Given the description of an element on the screen output the (x, y) to click on. 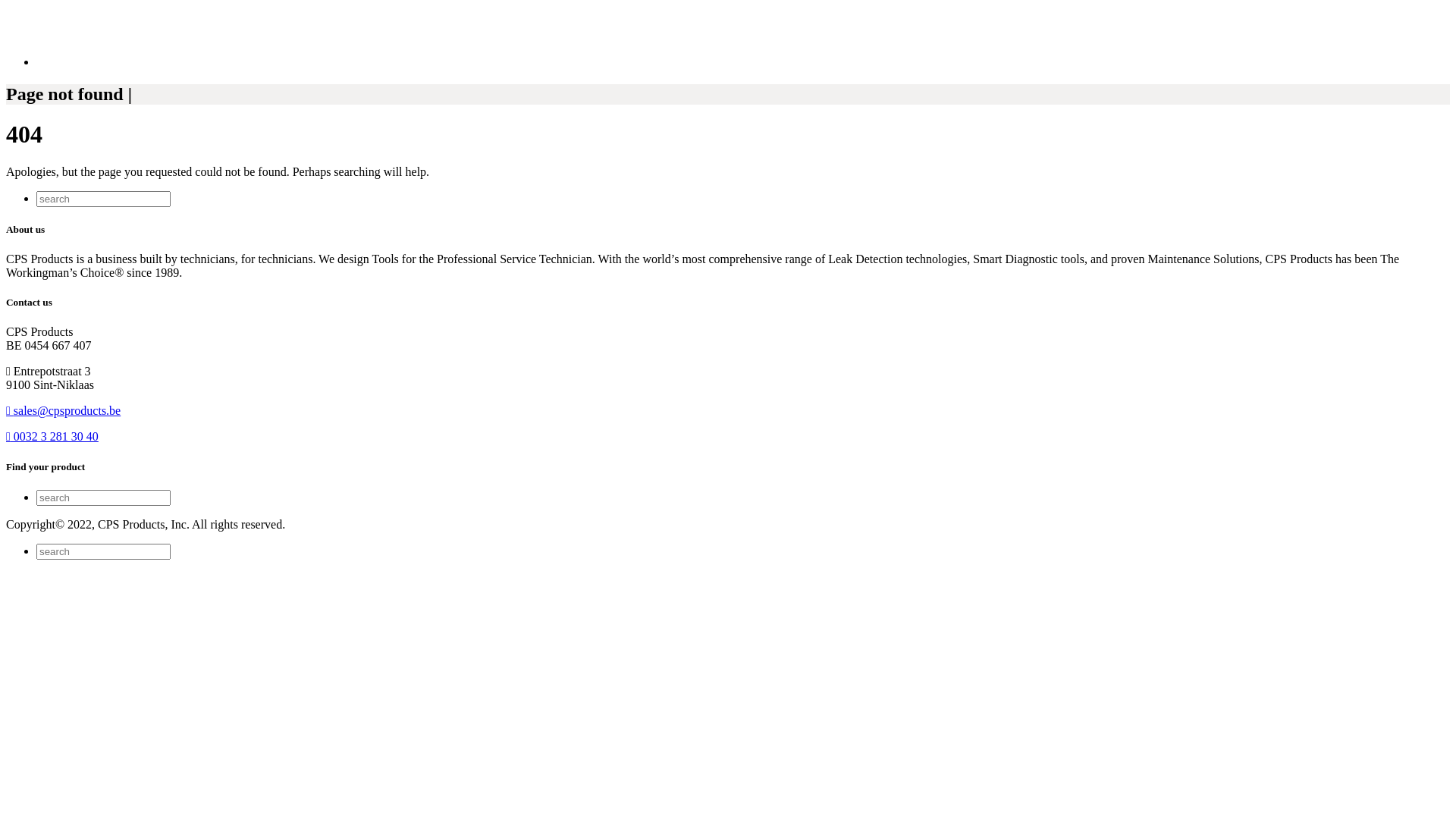
CPS Products Europe Element type: hover (114, 35)
